Given the description of an element on the screen output the (x, y) to click on. 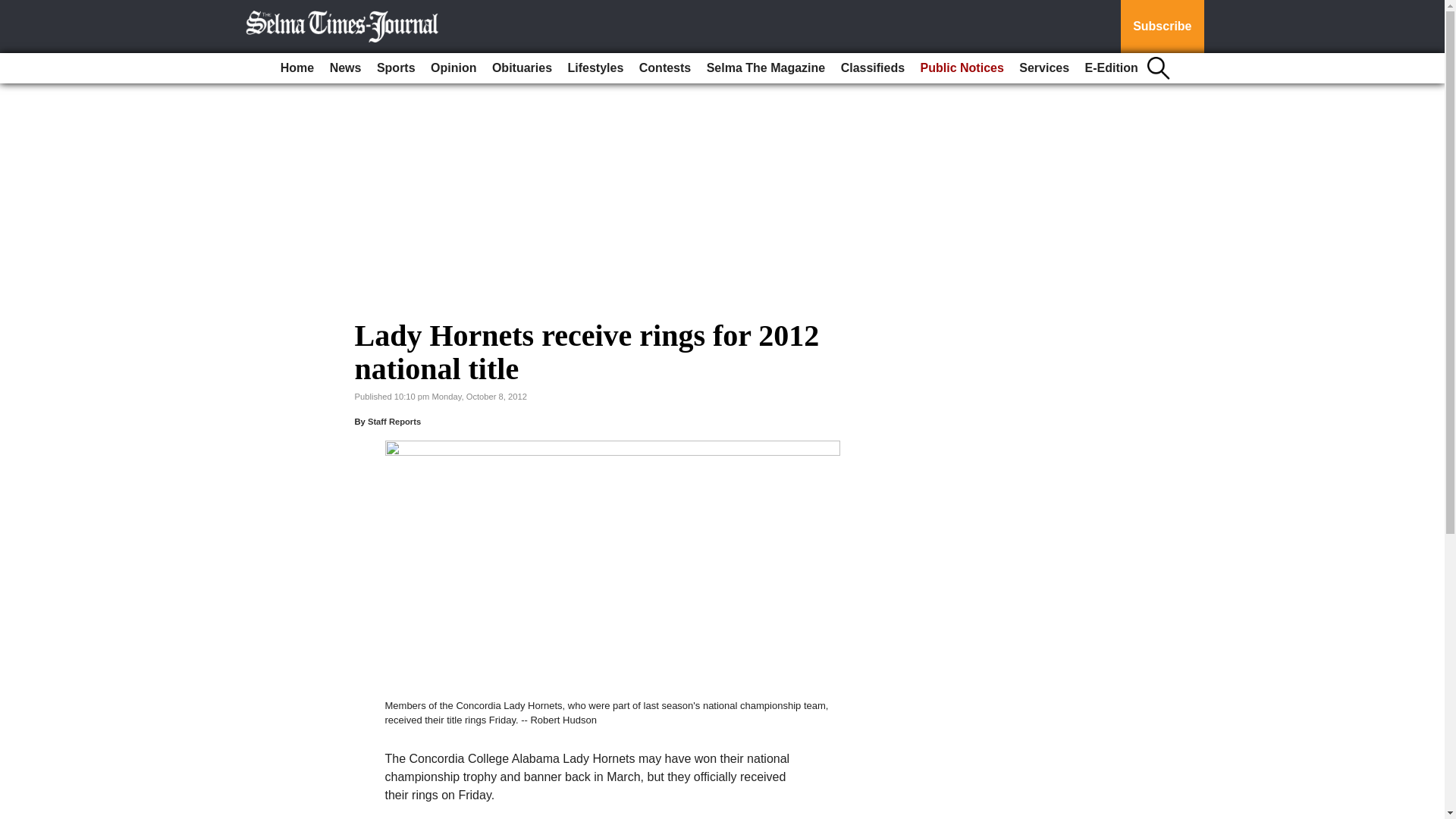
Classifieds (872, 68)
Subscribe (1162, 26)
Selma The Magazine (765, 68)
E-Edition (1111, 68)
Sports (396, 68)
Opinion (453, 68)
Home (297, 68)
News (345, 68)
Lifestyles (596, 68)
Obituaries (521, 68)
Contests (665, 68)
Staff Reports (394, 420)
Public Notices (962, 68)
Services (1044, 68)
Go (13, 9)
